Given the description of an element on the screen output the (x, y) to click on. 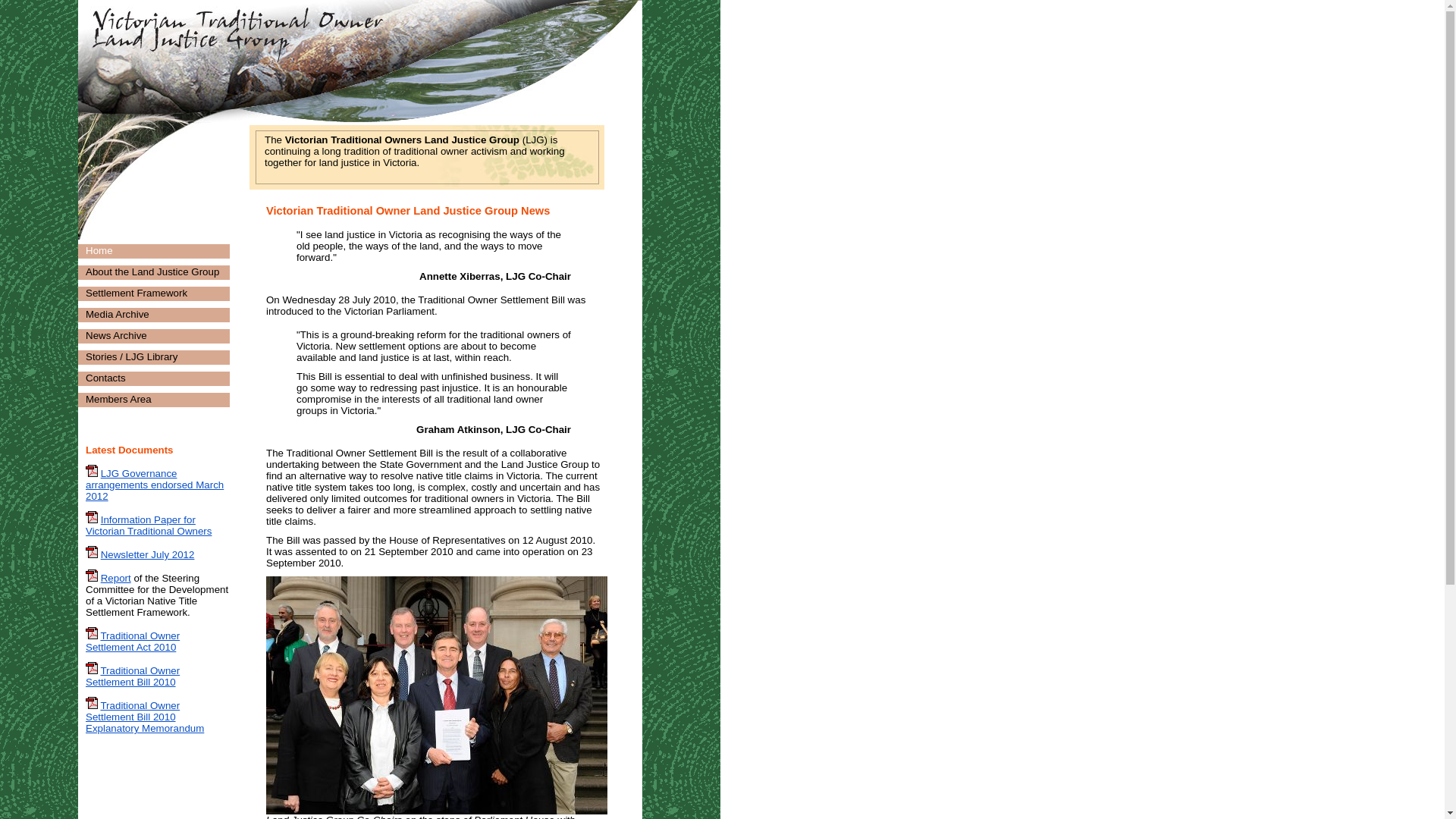
Settlement Framework Element type: text (136, 292)
Contacts Element type: text (105, 377)
Newsletter July 2012 Element type: text (147, 554)
Home Element type: text (98, 250)
Traditional Owner Settlement Bill 2010 Element type: text (132, 676)
Information Paper for Victorian Traditional Owners Element type: text (148, 525)
Traditional Owner Settlement Act 2010 Element type: text (132, 641)
News Archive Element type: text (116, 335)
LJG Governance arrangements endorsed March 2012 Element type: text (154, 484)
Media Archive Element type: text (117, 314)
Stories / LJG Library Element type: text (131, 356)
About the Land Justice Group Element type: text (152, 271)
Report Element type: text (115, 577)
Members Area Element type: text (118, 398)
